Given the description of an element on the screen output the (x, y) to click on. 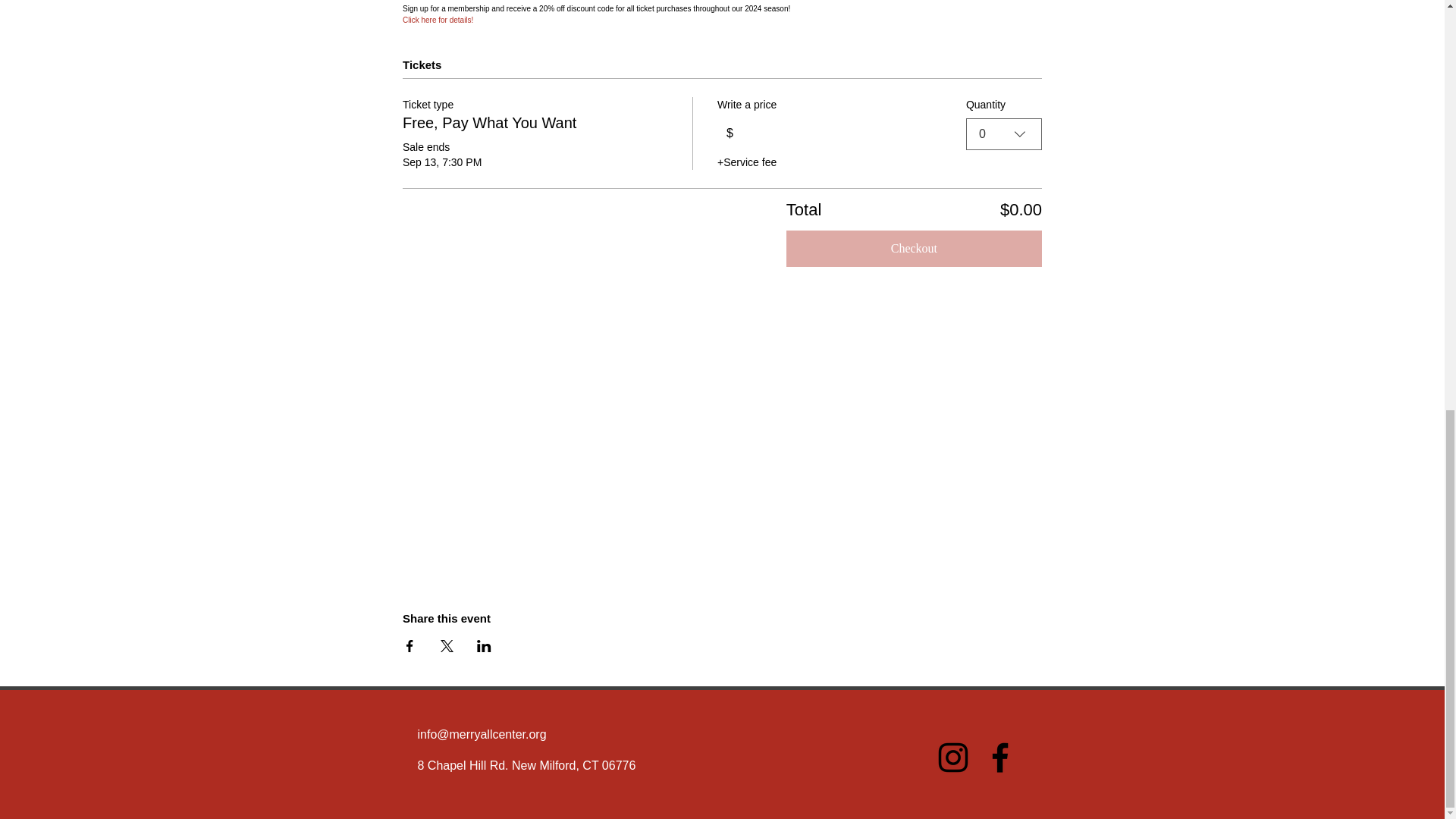
Click here for details! (438, 19)
Checkout (914, 248)
0 (1004, 133)
